Given the description of an element on the screen output the (x, y) to click on. 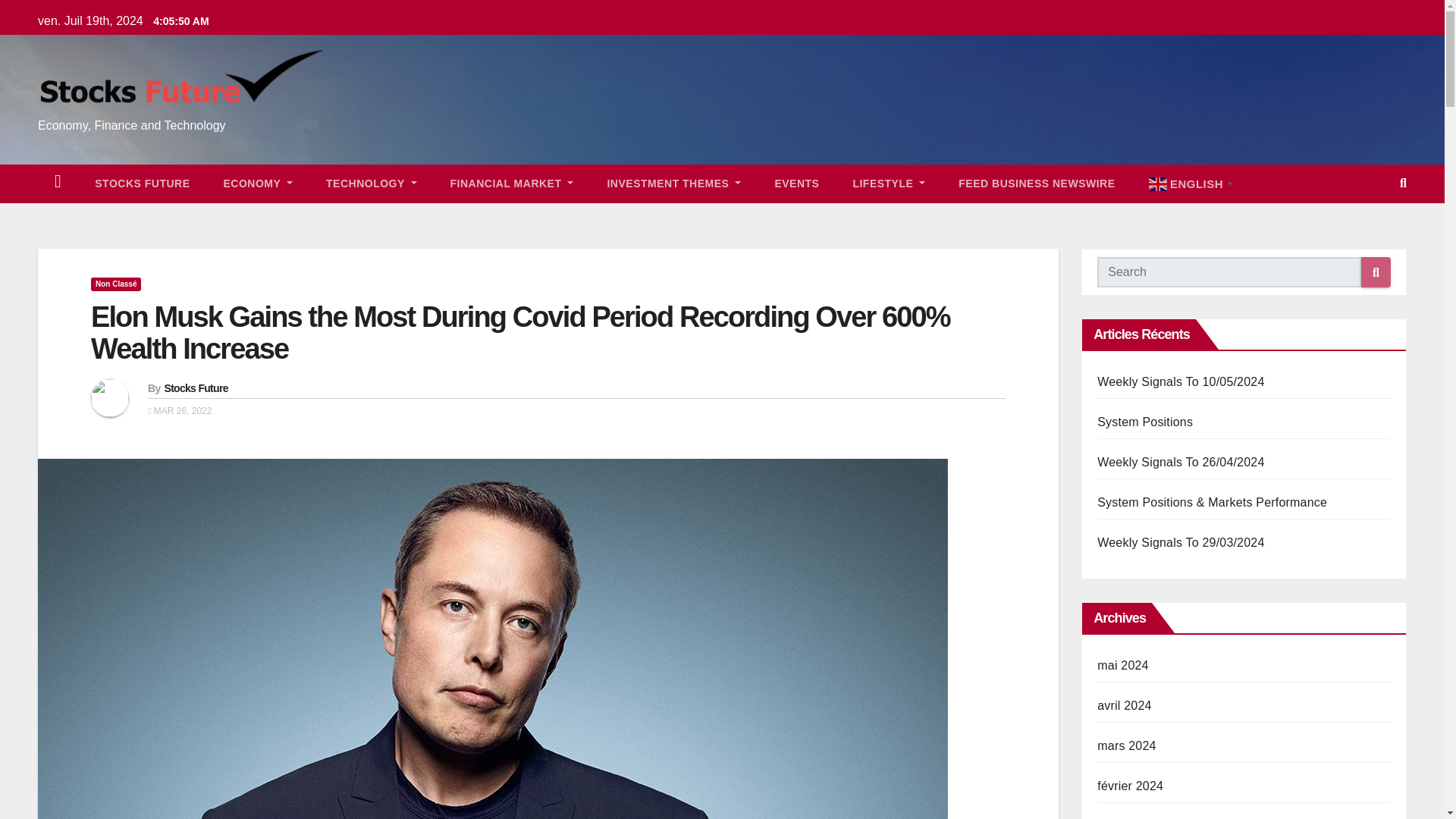
TECHNOLOGY (370, 183)
Economy (258, 183)
STOCKS FUTURE (142, 183)
Stocks Future (142, 183)
Home (57, 183)
FINANCIAL MARKET (512, 183)
INVESTMENT THEMES (673, 183)
ECONOMY (258, 183)
